Given the description of an element on the screen output the (x, y) to click on. 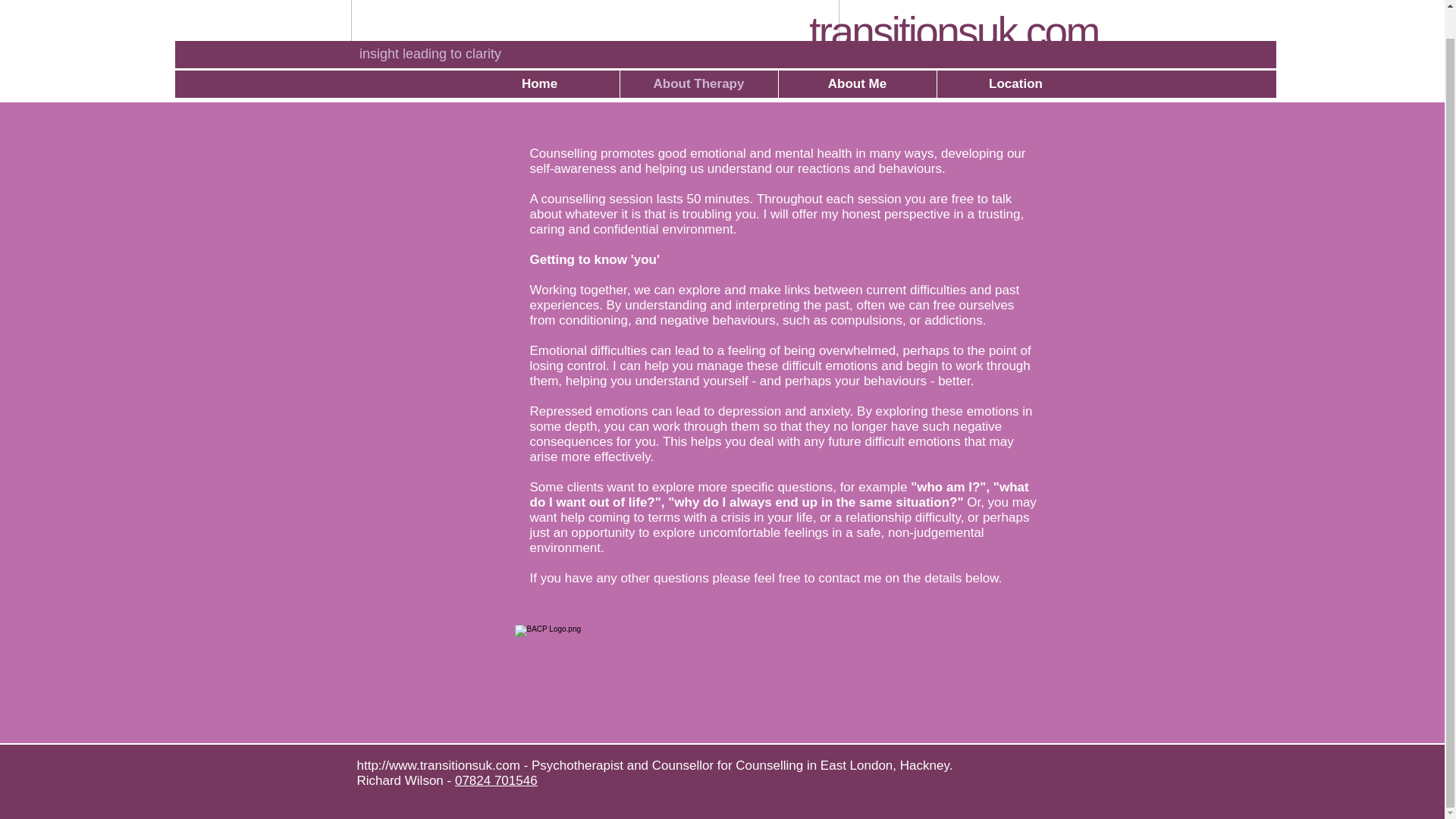
Home (539, 83)
07824 701546 (495, 780)
About Me (856, 83)
transitionsuk.com (953, 31)
About Therapy (697, 83)
Location (1015, 83)
